Given the description of an element on the screen output the (x, y) to click on. 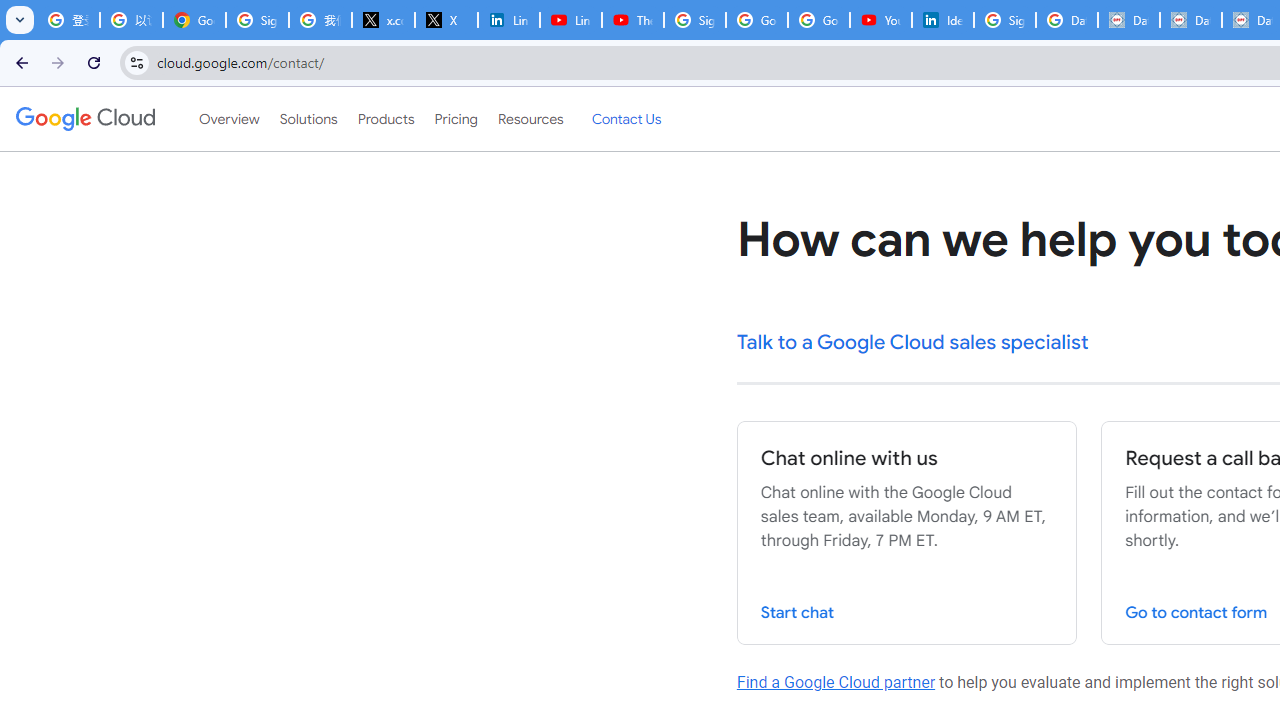
Data Privacy Framework (1128, 20)
Find a Google Cloud partner (835, 682)
